Given the description of an element on the screen output the (x, y) to click on. 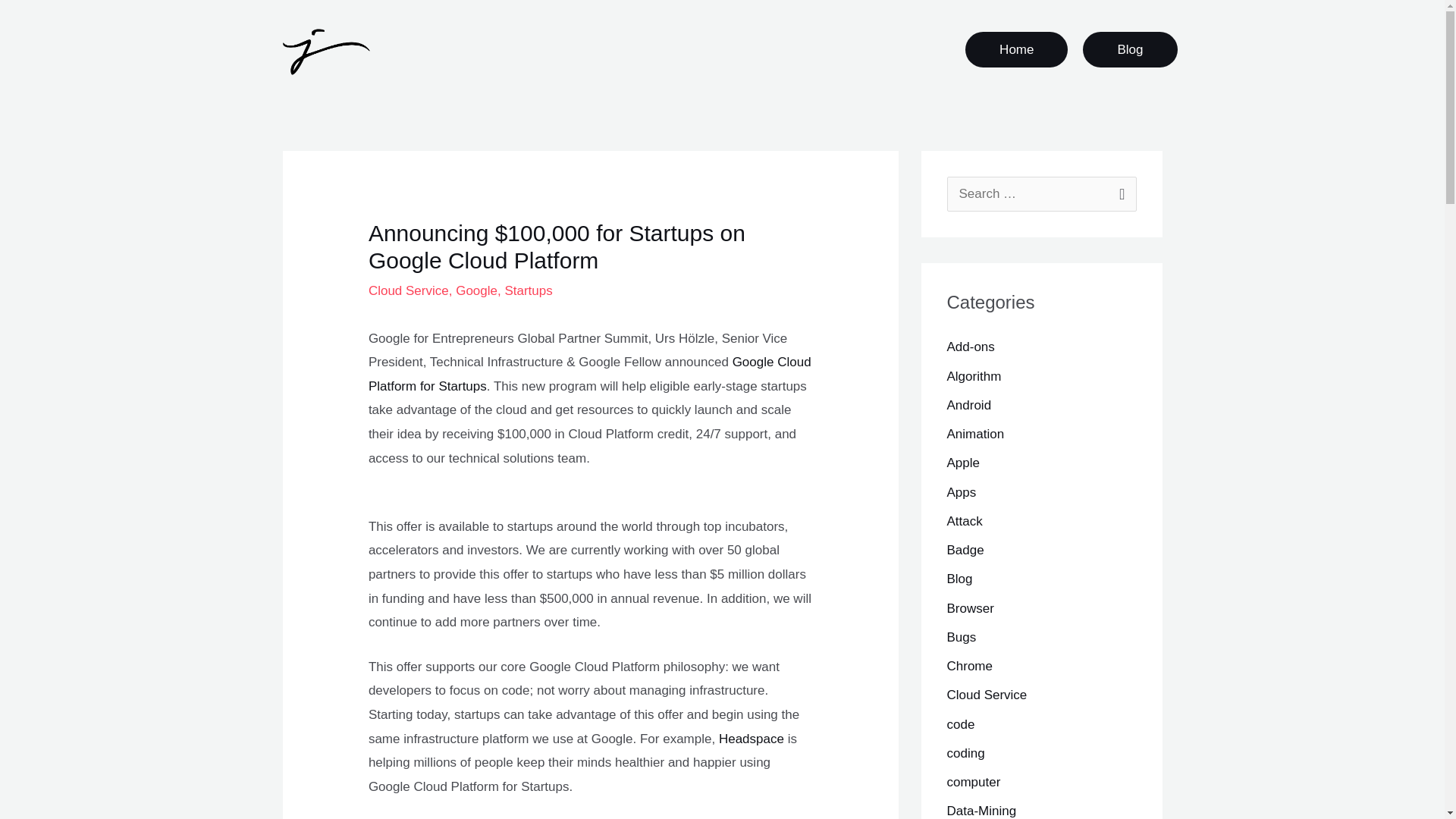
Apple (962, 462)
Blog (1129, 49)
Startups (527, 290)
Cloud Service (986, 694)
Search (1119, 192)
Chrome (968, 666)
Algorithm (973, 376)
Google Cloud Platform for Startups (589, 373)
Headspace (751, 738)
Search (1119, 192)
Add-ons (970, 346)
Google (476, 290)
Apps (960, 492)
Browser (969, 608)
Blog (959, 578)
